Given the description of an element on the screen output the (x, y) to click on. 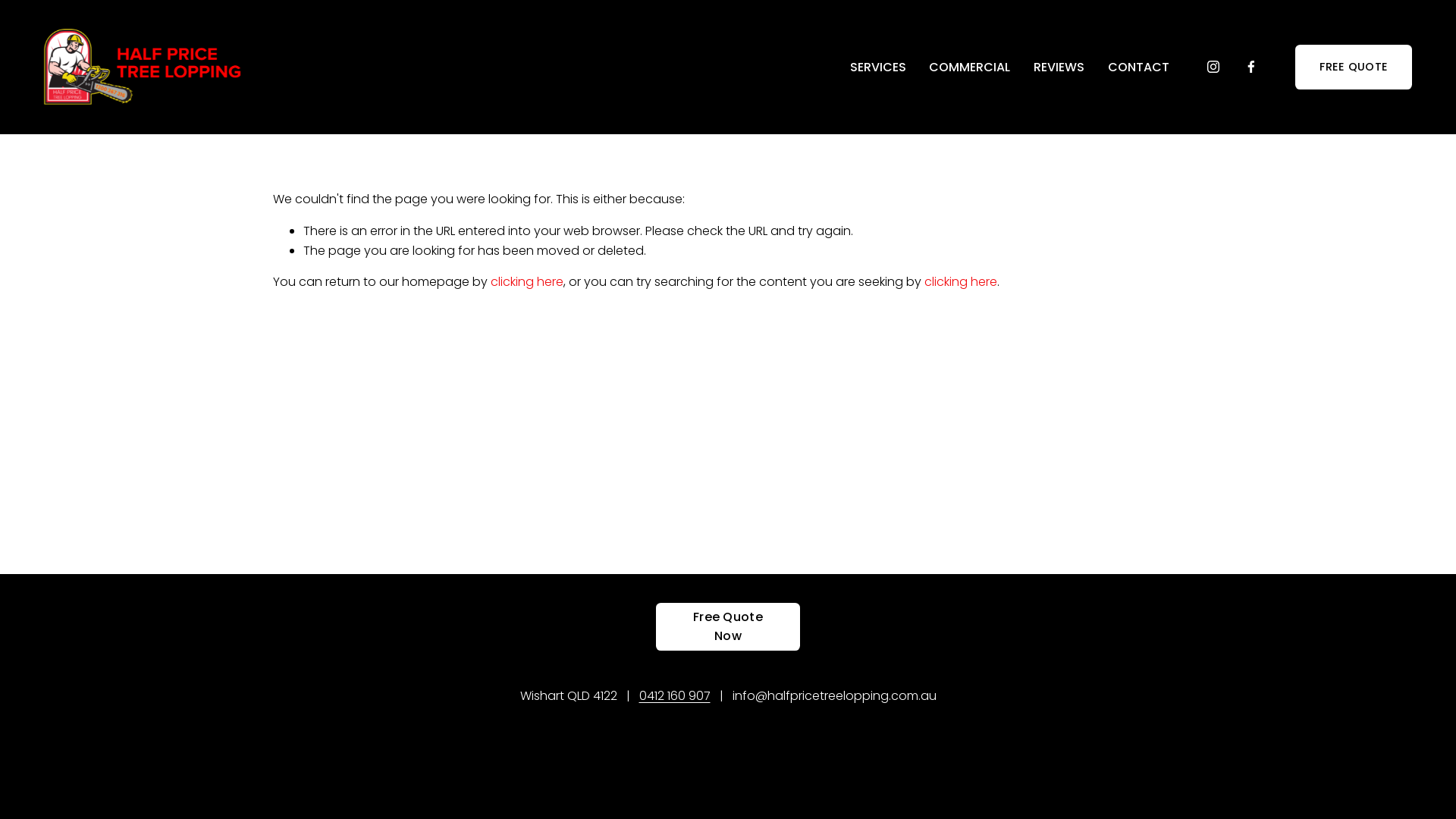
COMMERCIAL Element type: text (969, 67)
CONTACT Element type: text (1138, 67)
0412 160 907 Element type: text (673, 696)
SERVICES Element type: text (878, 67)
clicking here Element type: text (960, 281)
Free Quote Now Element type: text (727, 626)
FREE QUOTE Element type: text (1353, 66)
REVIEWS Element type: text (1058, 67)
clicking here Element type: text (526, 281)
